Given the description of an element on the screen output the (x, y) to click on. 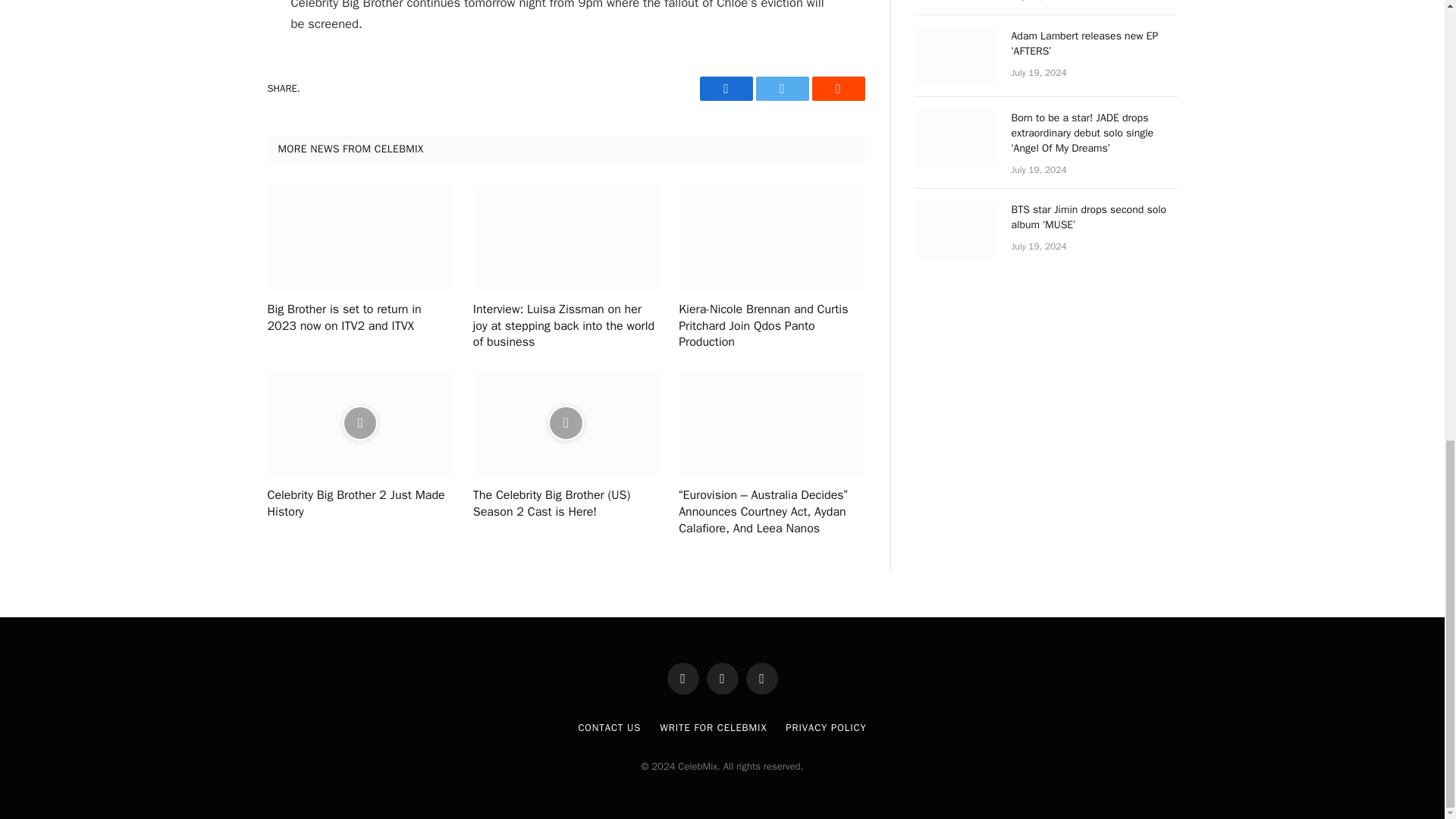
Share on Facebook (725, 88)
Twitter (781, 88)
Facebook (725, 88)
Celebrity Big Brother 2 Just Made History (359, 503)
Big Brother is set to return in 2023 now on ITV2 and ITVX (359, 318)
Reddit (837, 88)
